Given the description of an element on the screen output the (x, y) to click on. 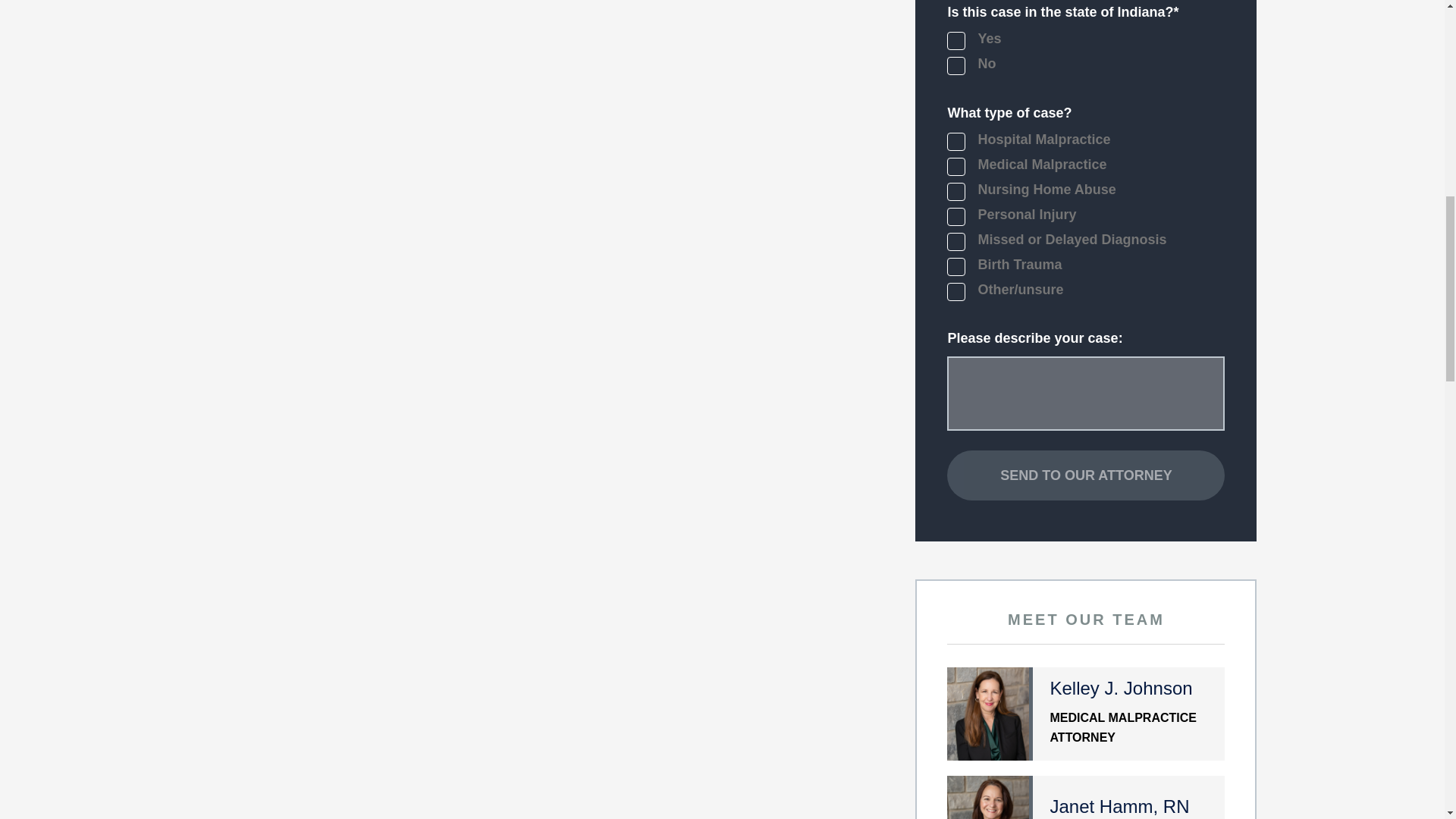
Send to our Attorney (1085, 713)
Send to our Attorney (1085, 797)
